Given the description of an element on the screen output the (x, y) to click on. 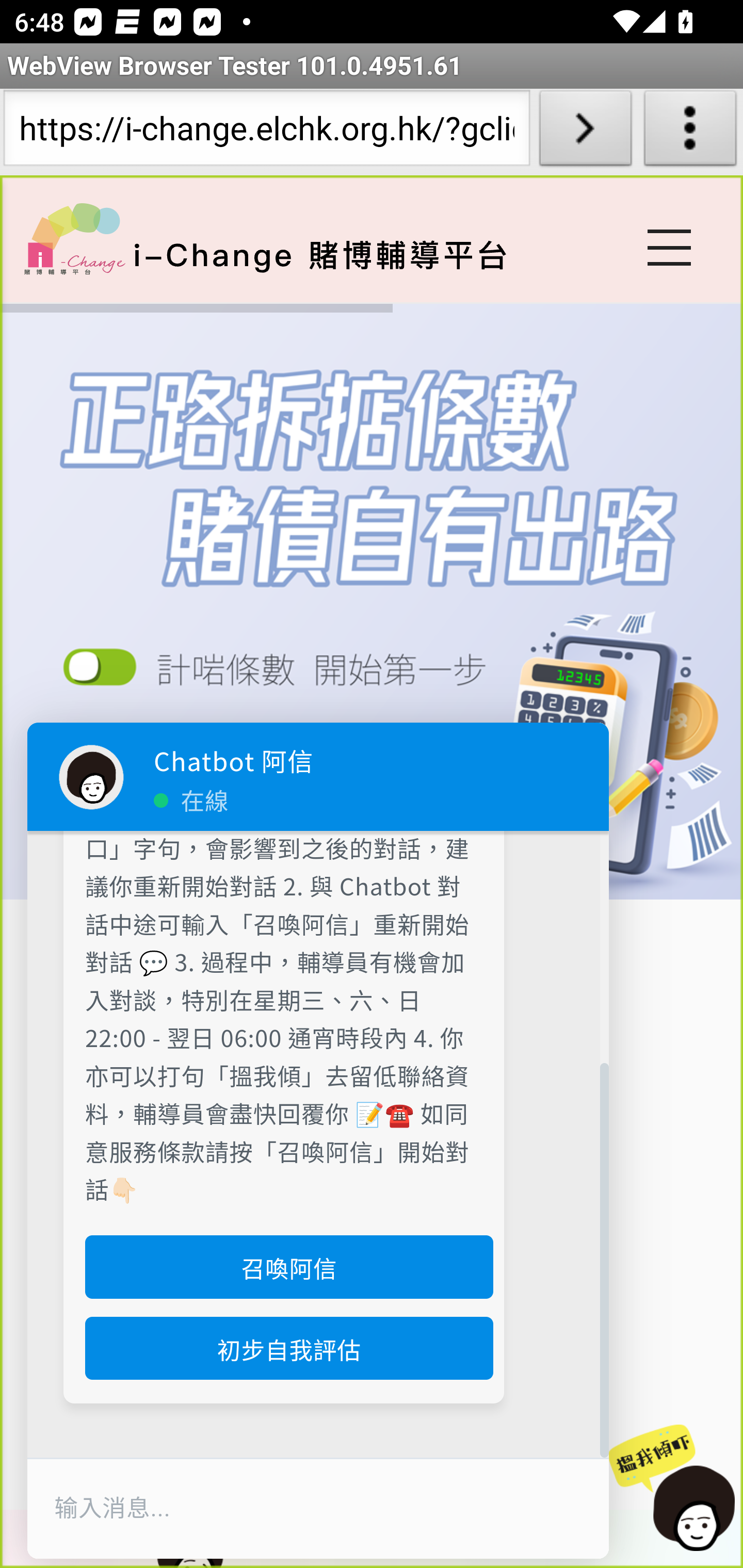
Load URL (585, 132)
About WebView (690, 132)
Home (74, 238)
查閱私隱政策 (283, 674)
Chat Now (668, 1488)
